Given the description of an element on the screen output the (x, y) to click on. 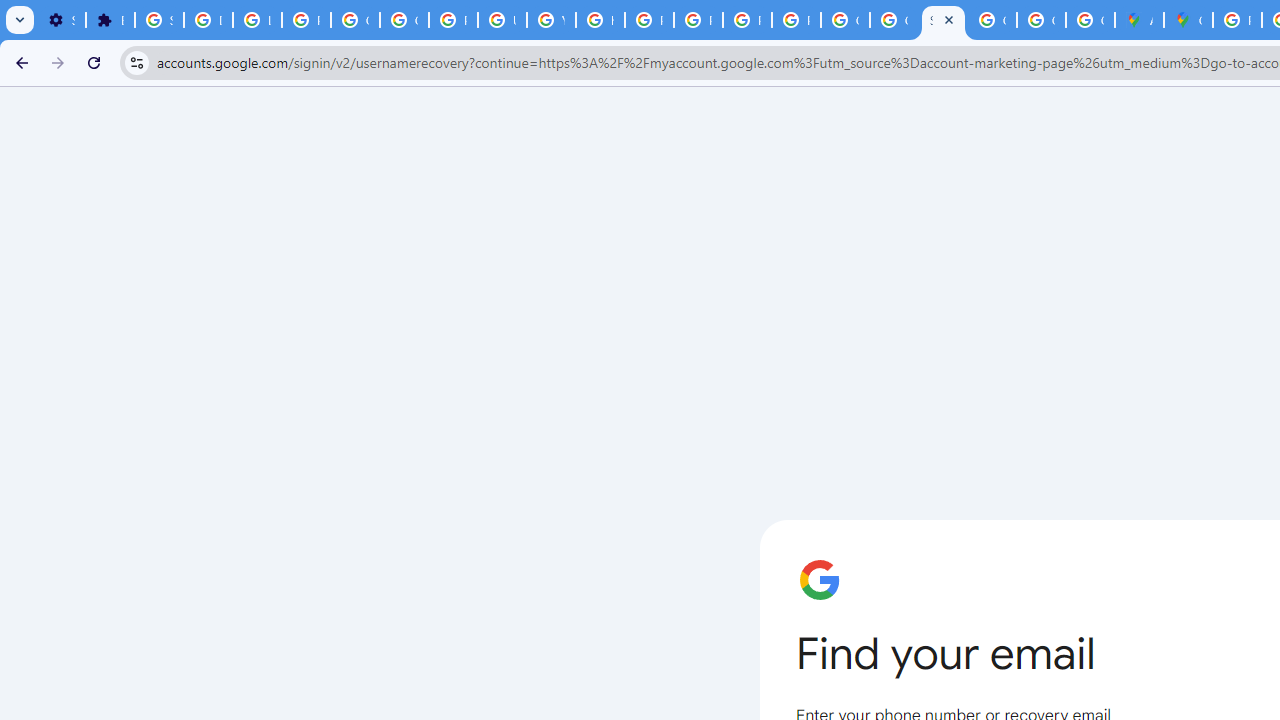
Google Maps (1188, 20)
Extensions (109, 20)
Policy Accountability and Transparency - Transparency Center (1237, 20)
Delete photos & videos - Computer - Google Photos Help (208, 20)
YouTube (551, 20)
Settings - On startup (61, 20)
Learn how to find your photos - Google Photos Help (257, 20)
